Given the description of an element on the screen output the (x, y) to click on. 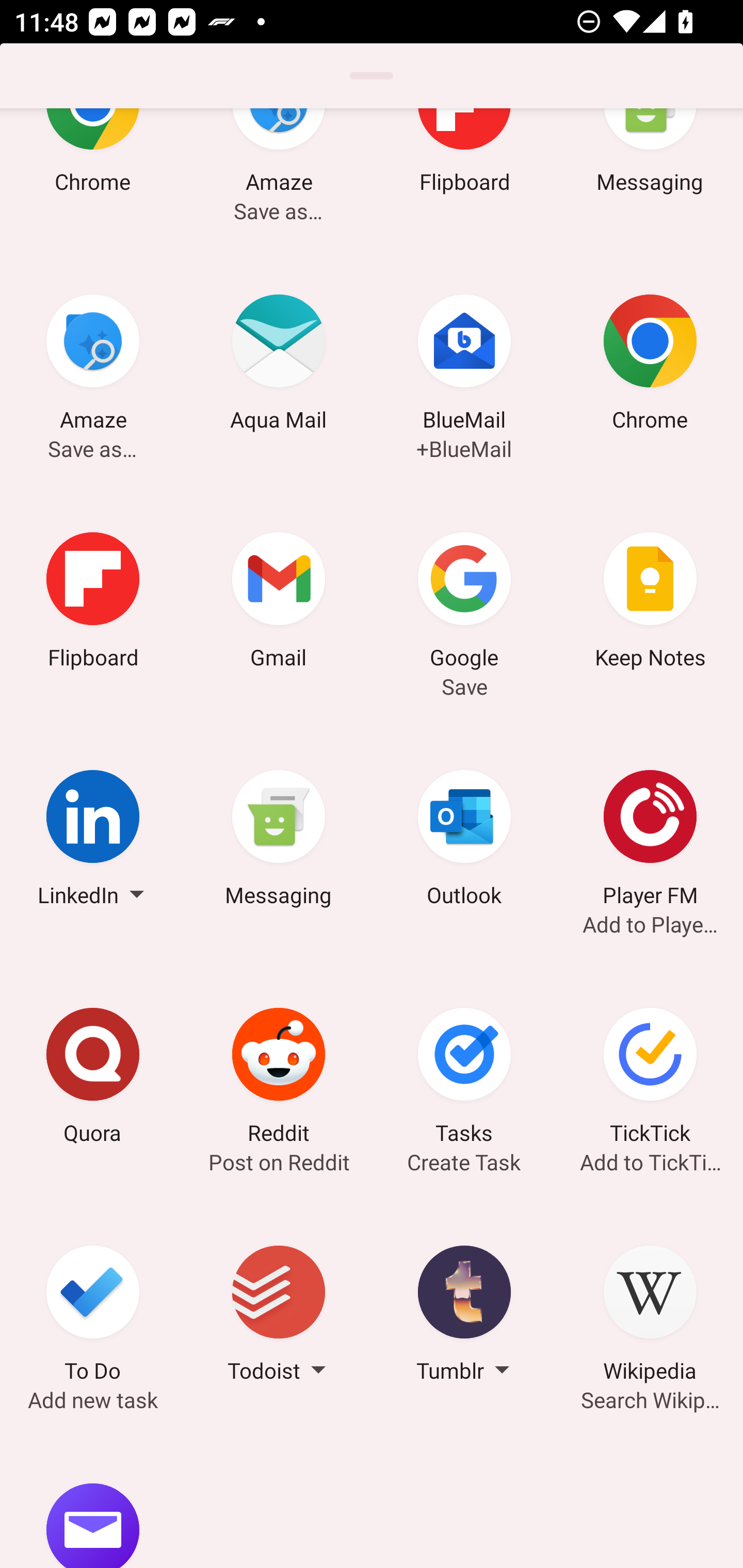
Chrome (92, 177)
Amaze Save as… (278, 177)
Flipboard (464, 177)
Messaging (650, 177)
Amaze Save as… (92, 365)
Aqua Mail (278, 365)
BlueMail +BlueMail (464, 365)
Chrome (650, 365)
Flipboard (92, 603)
Gmail (278, 603)
Google Save (464, 603)
Keep Notes (650, 603)
LinkedIn (92, 840)
Messaging (278, 840)
Outlook (464, 840)
Player FM Add to Player FM (650, 840)
Quora (92, 1078)
Reddit Post on Reddit (278, 1078)
Tasks Create Task (464, 1078)
TickTick Add to TickTick (650, 1078)
To Do Add new task (92, 1316)
Todoist (278, 1316)
Tumblr (464, 1316)
Wikipedia Search Wikipedia (650, 1316)
